Given the description of an element on the screen output the (x, y) to click on. 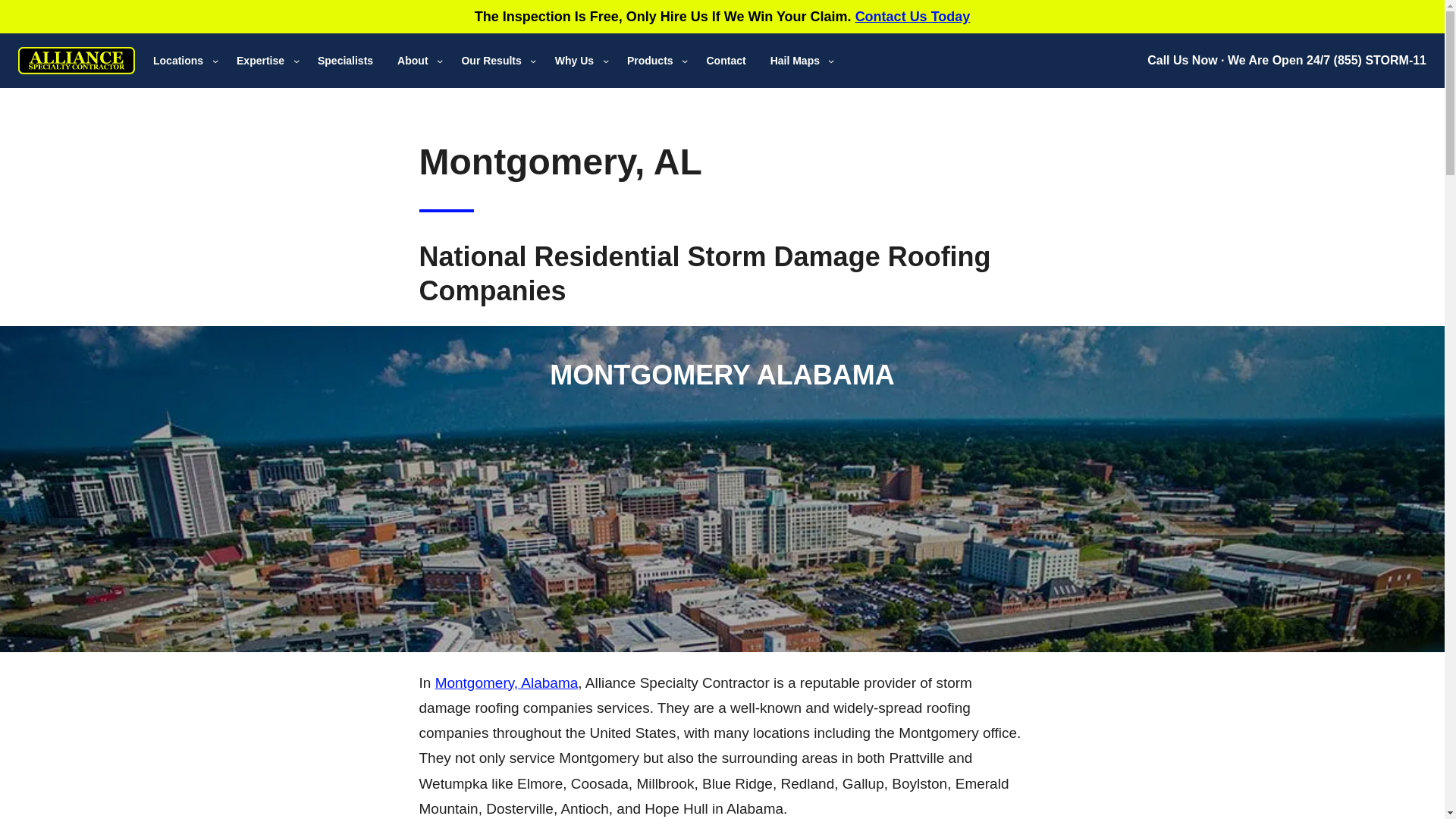
Locations (178, 60)
Contact Us Today (913, 16)
Expertise (259, 60)
